Given the description of an element on the screen output the (x, y) to click on. 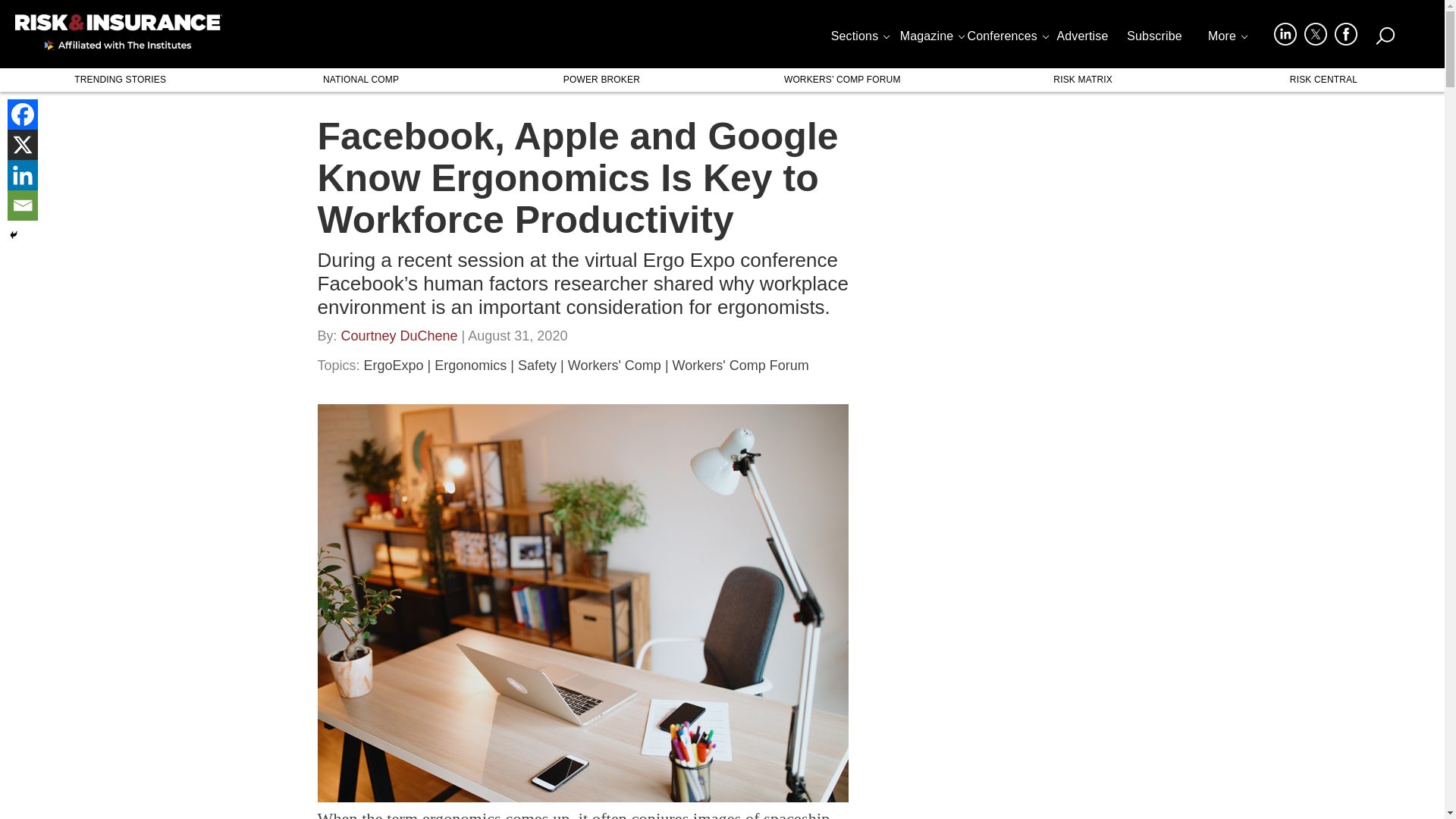
3rd party ad content (1002, 751)
Posts by Courtney DuChene (399, 339)
Facebook (22, 114)
More (1226, 39)
Linkedin (22, 174)
Advertise (1082, 39)
Hide (13, 234)
Subscribe (1154, 39)
TRENDING STORIES (120, 79)
X (22, 144)
Email (22, 205)
Sections (859, 39)
Magazine (931, 39)
NATIONAL COMP (360, 79)
Conferences (1007, 39)
